Given the description of an element on the screen output the (x, y) to click on. 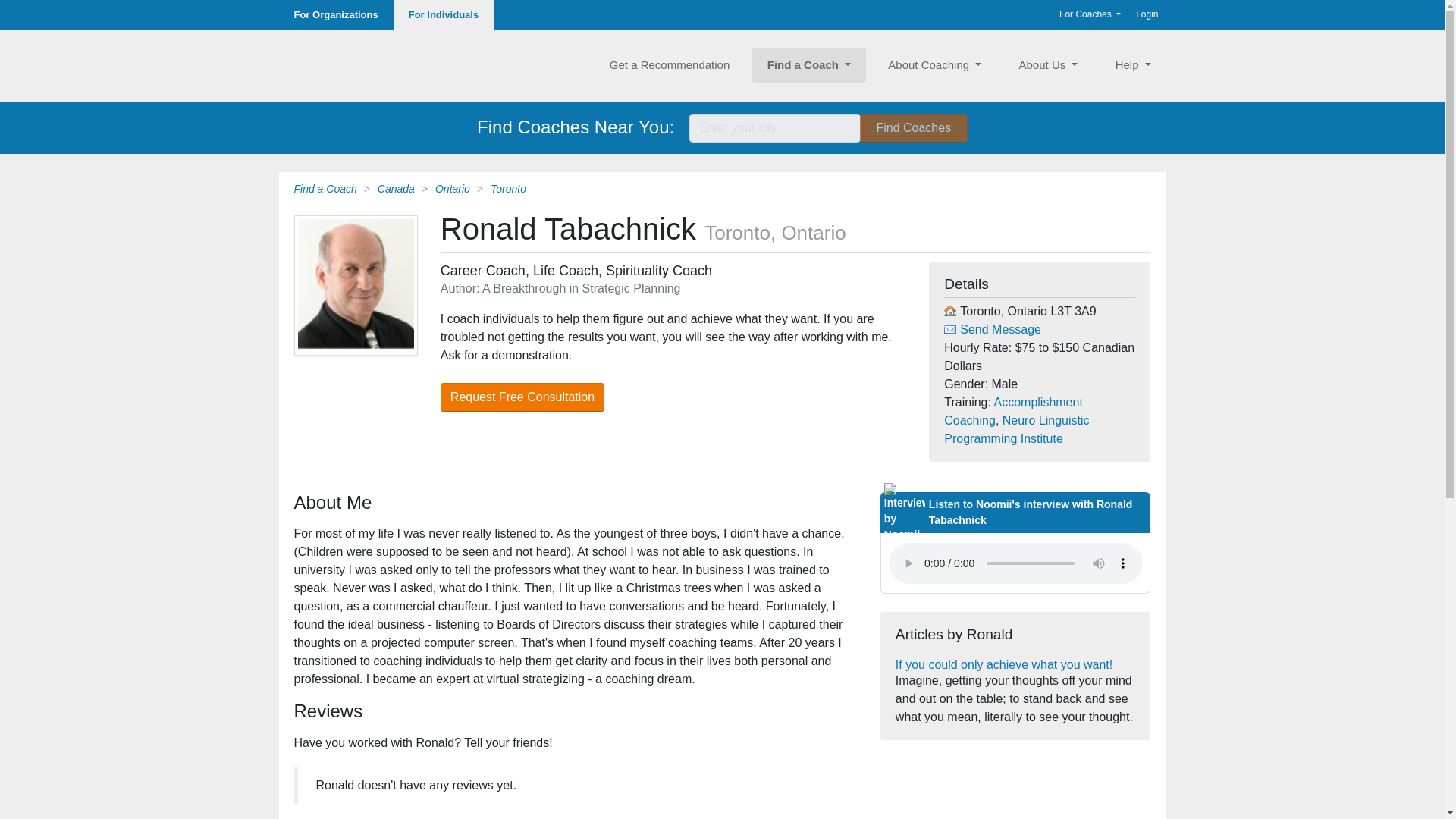
Noomii the Professional Coach Directory (346, 64)
Canada (395, 187)
For Coaches (1089, 13)
Find a Coach (325, 187)
Find Coaches (914, 127)
Login (1147, 13)
Find Coaches (914, 127)
Get a Recommendation (669, 65)
Find a Coach (809, 65)
Request Free Consultation (522, 396)
Toronto (507, 187)
Ontario (452, 187)
About Coaching (933, 65)
Help (1133, 65)
For Organizations (336, 14)
